Given the description of an element on the screen output the (x, y) to click on. 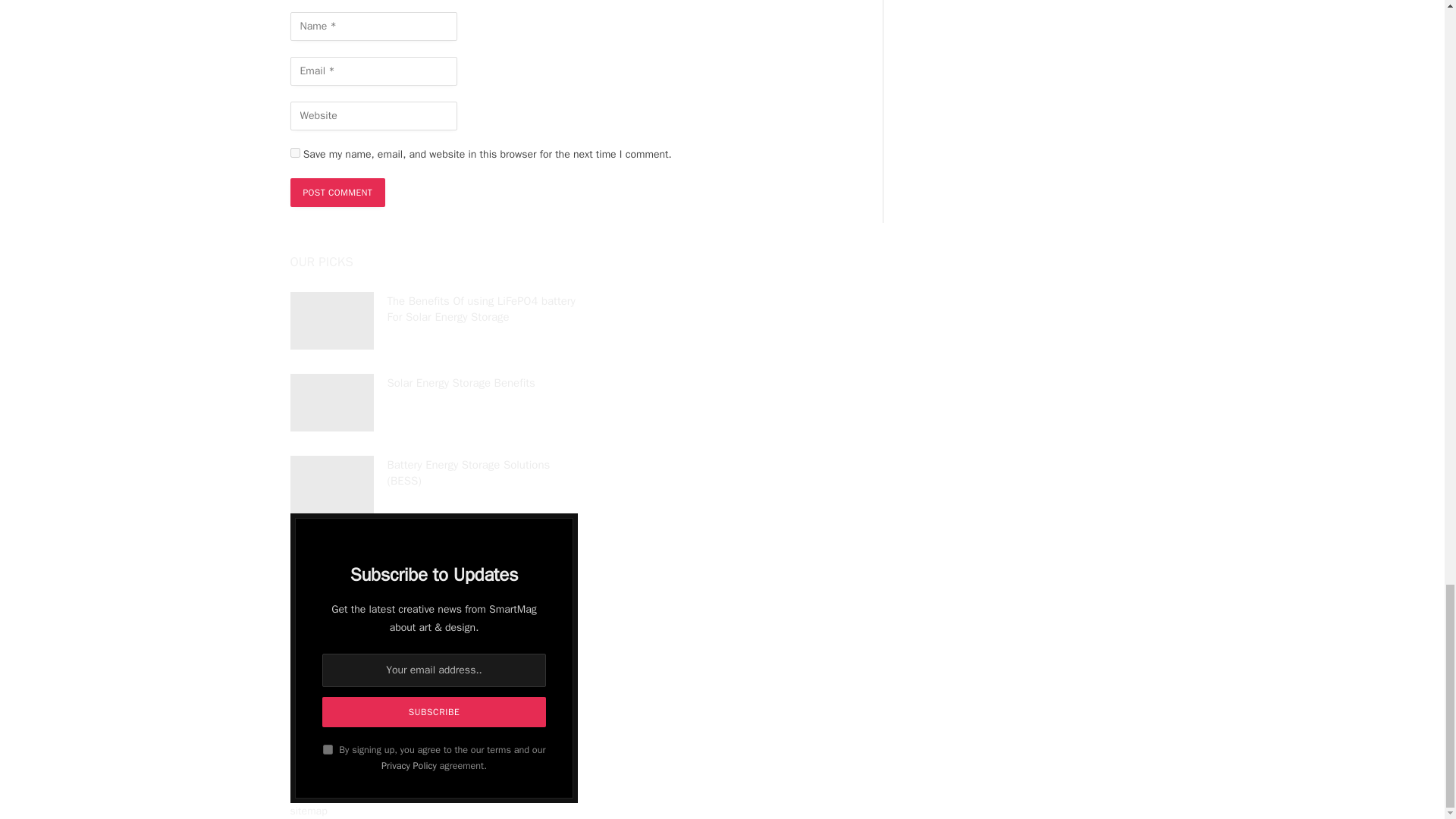
yes (294, 153)
on (328, 749)
Post Comment (337, 192)
Subscribe (432, 711)
